Given the description of an element on the screen output the (x, y) to click on. 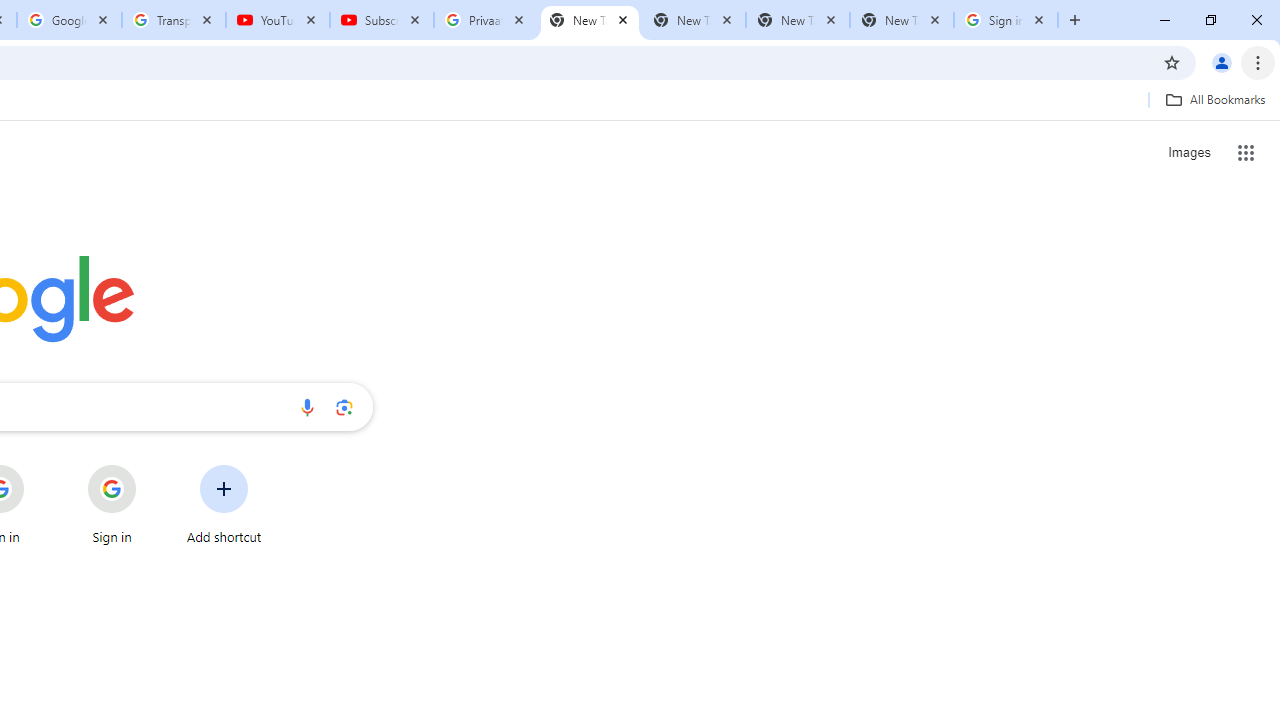
New Tab (901, 20)
